Given the description of an element on the screen output the (x, y) to click on. 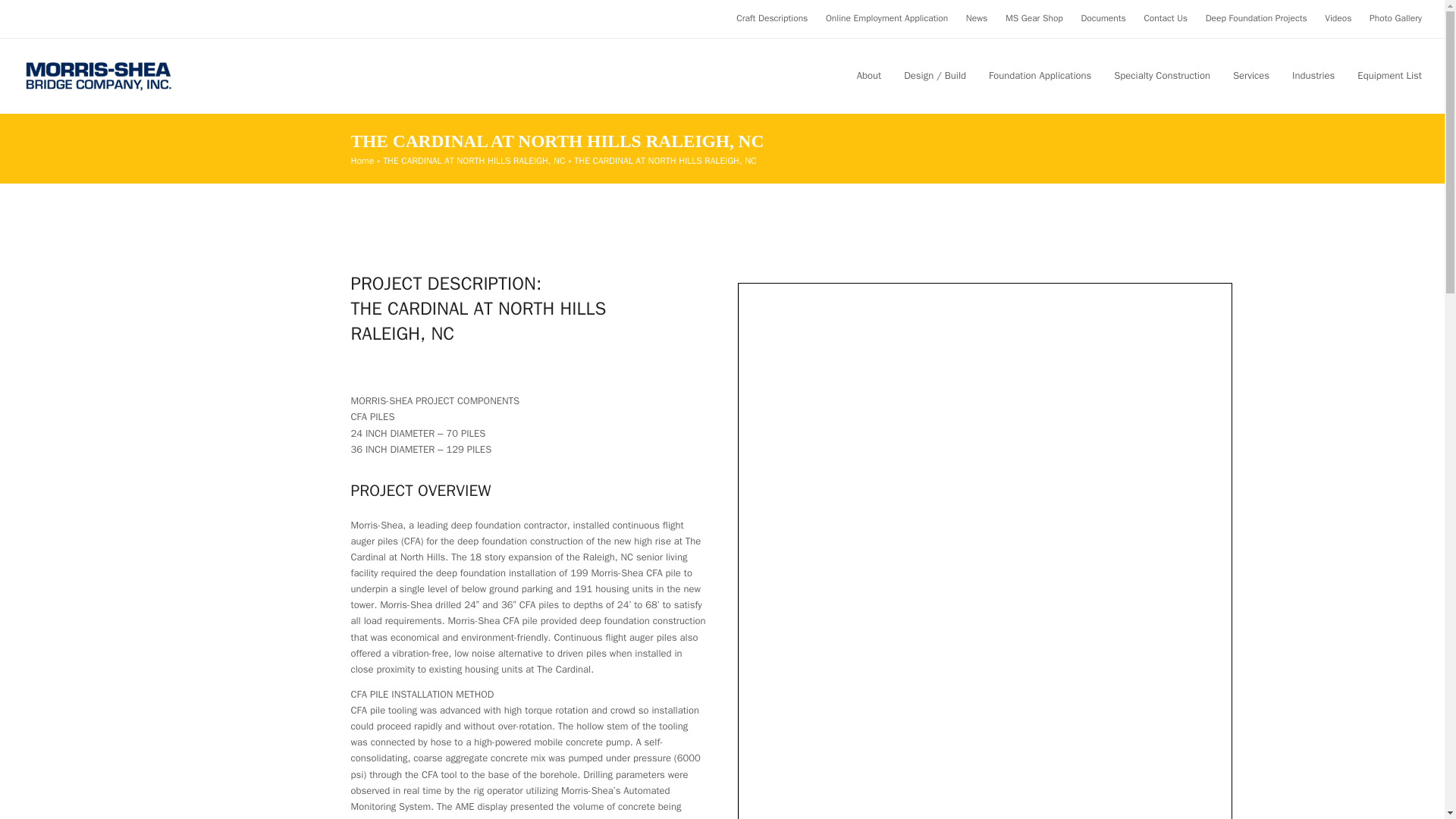
Videos (1337, 18)
Deep Foundation Projects (1256, 18)
Documents (1102, 18)
Contact Us (1165, 18)
News (977, 18)
Photo Gallery (1396, 18)
Craft Descriptions (772, 18)
Specialty Construction (1161, 75)
MS Gear Shop (1034, 18)
Foundation Applications (1039, 75)
Online Employment Application (886, 18)
